Given the description of an element on the screen output the (x, y) to click on. 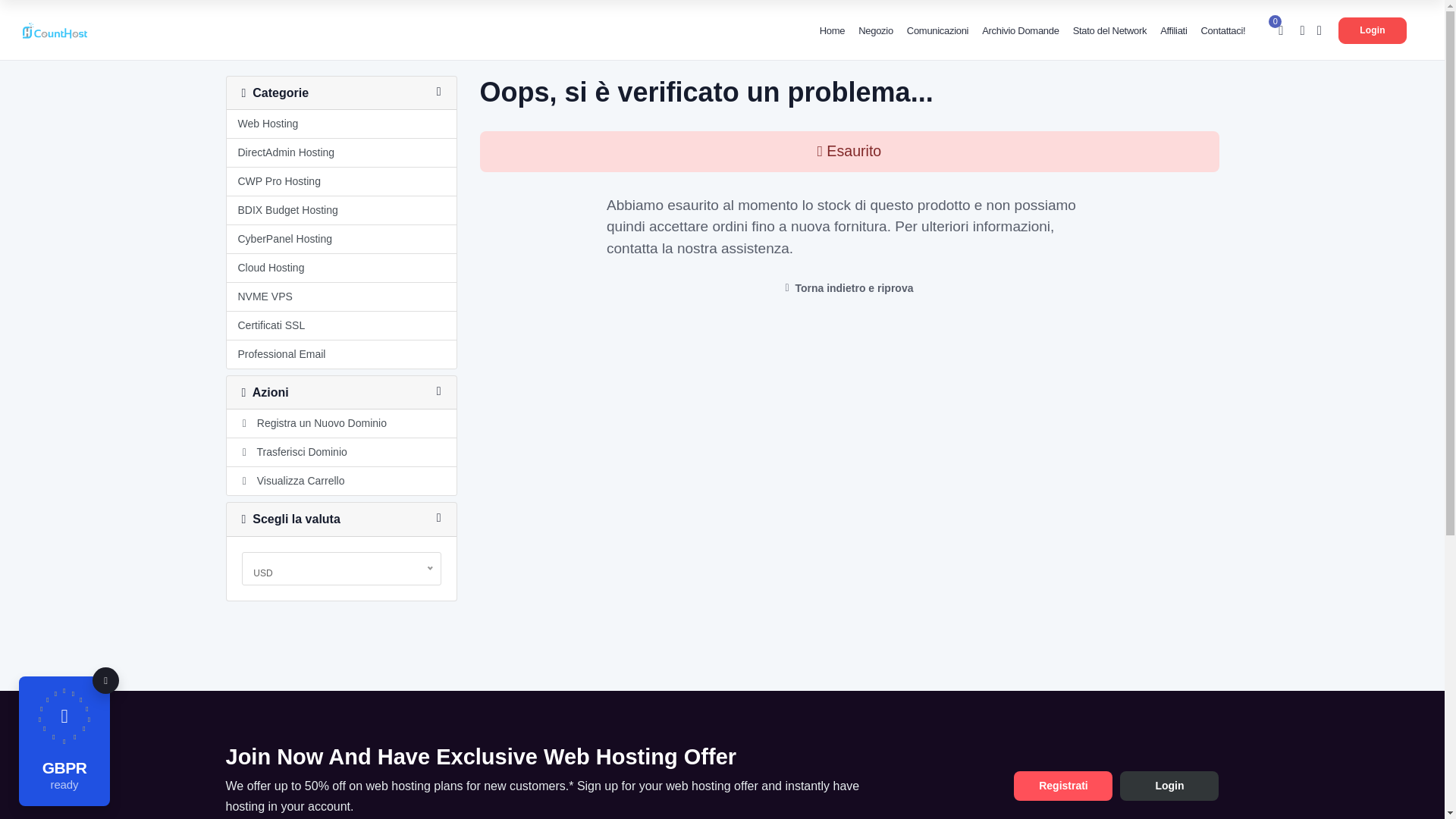
DirectAdmin Hosting (340, 152)
Archivio Domande (1020, 30)
Web Hosting (340, 123)
Affiliati (1173, 30)
Negozio (875, 30)
CWP Pro Hosting (340, 181)
0 (1280, 30)
Cloud Hosting (340, 267)
BDIX Budget Hosting (340, 210)
Certificati SSL (340, 326)
  Registra un Nuovo Dominio (340, 423)
CyberPanel Hosting (340, 239)
NVME VPS (340, 297)
Comunicazioni (937, 30)
Professional Email (340, 354)
